Given the description of an element on the screen output the (x, y) to click on. 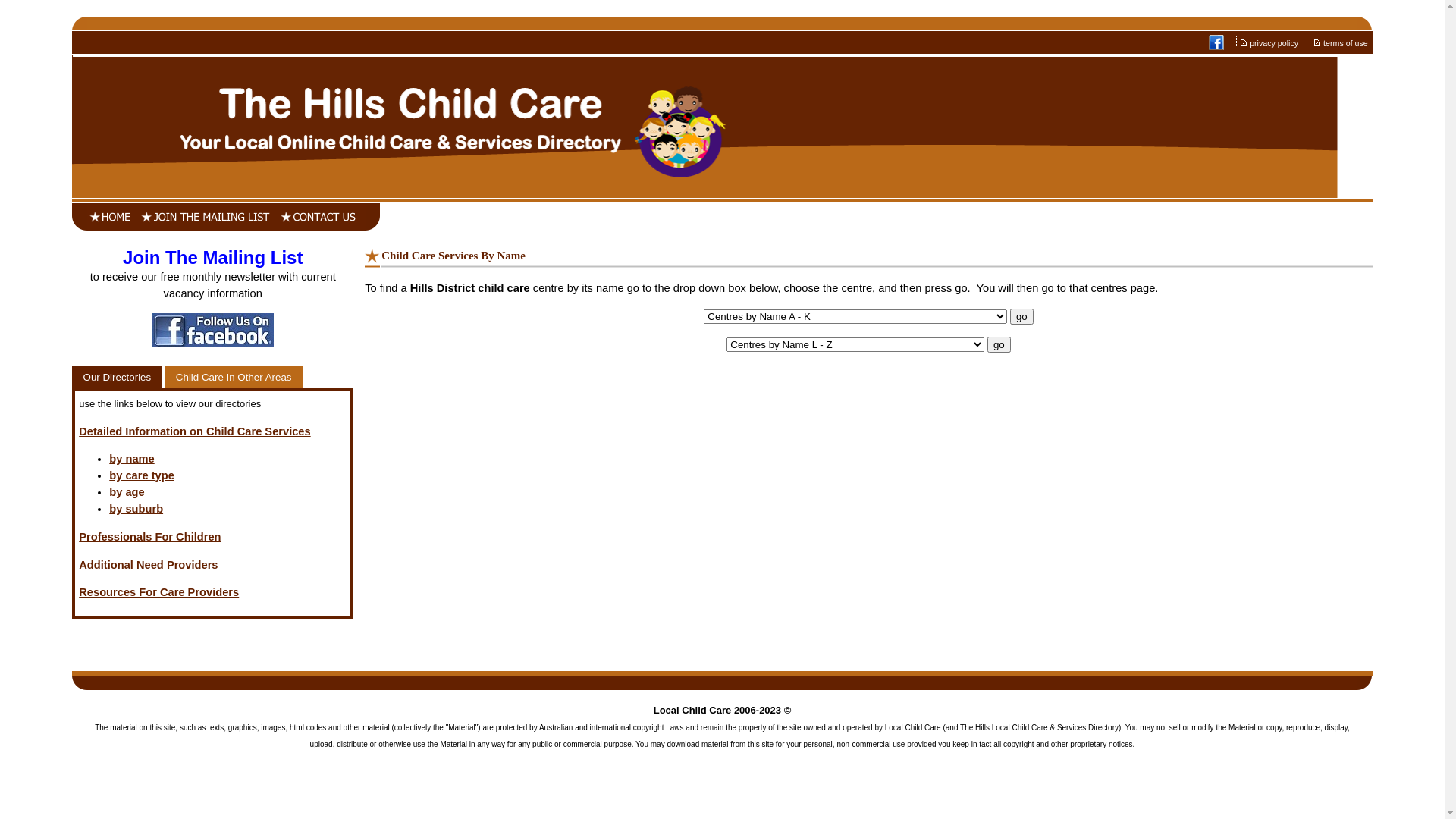
privacy policy Element type: text (1274, 43)
by age Element type: text (126, 492)
terms of use Element type: text (1346, 43)
go Element type: text (998, 344)
Additional Need Providers Element type: text (147, 564)
by care type Element type: text (141, 475)
go Element type: text (1021, 315)
Child Care In Other Areas Element type: text (233, 377)
Our Directories Element type: text (116, 377)
Professionals For Children Element type: text (149, 536)
Resources For Care Providers Element type: text (158, 592)
Join The Mailing List Element type: text (212, 260)
by name Element type: text (131, 458)
by suburb Element type: text (136, 508)
Detailed Information on Child Care Services Element type: text (194, 431)
